Given the description of an element on the screen output the (x, y) to click on. 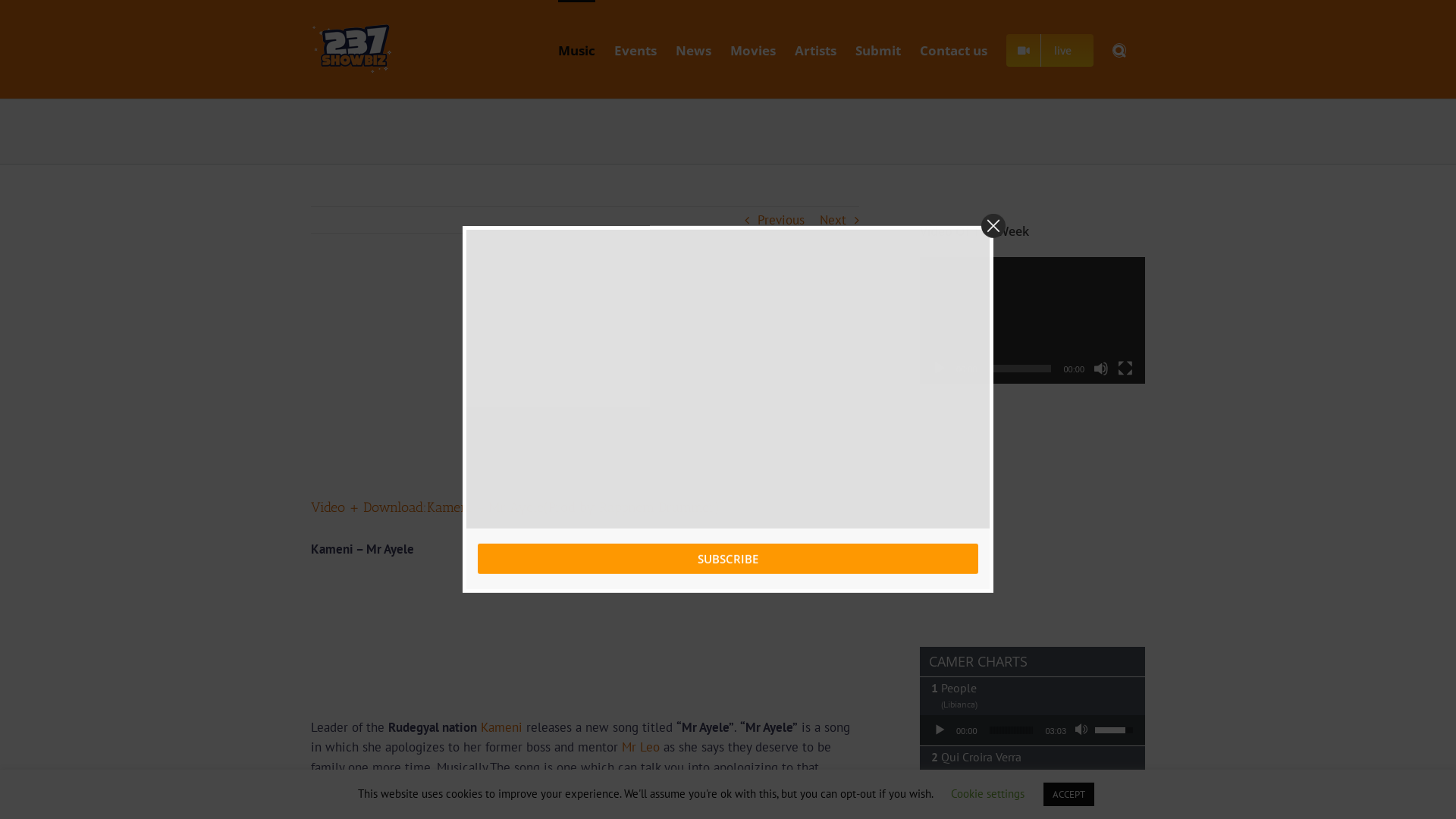
Use Up/Down Arrow keys to increase or decrease volume. Element type: text (1116, 797)
Search Element type: hover (1119, 49)
Artists Element type: text (815, 49)
Mute Element type: hover (1082, 729)
live Element type: text (1049, 49)
Kameni Element type: text (501, 726)
News Element type: text (693, 49)
Fullscreen Element type: hover (1124, 368)
Mute Element type: hover (1082, 798)
Advertisement Element type: hover (584, 385)
Next Element type: text (832, 219)
Contact us Element type: text (953, 49)
Use Up/Down Arrow keys to increase or decrease volume. Element type: text (1116, 728)
Music Element type: text (576, 49)
Submit Element type: text (877, 49)
Play Element type: hover (939, 798)
Mute Element type: hover (1100, 368)
Play Element type: hover (939, 729)
Play Element type: hover (939, 368)
Previous Element type: text (780, 219)
Mr Leo Element type: text (640, 746)
Events Element type: text (635, 49)
Movies Element type: text (752, 49)
Advertisement Element type: hover (584, 642)
Cookie settings Element type: text (987, 793)
Advertisement Element type: hover (1033, 512)
ACCEPT Element type: text (1068, 794)
